Given the description of an element on the screen output the (x, y) to click on. 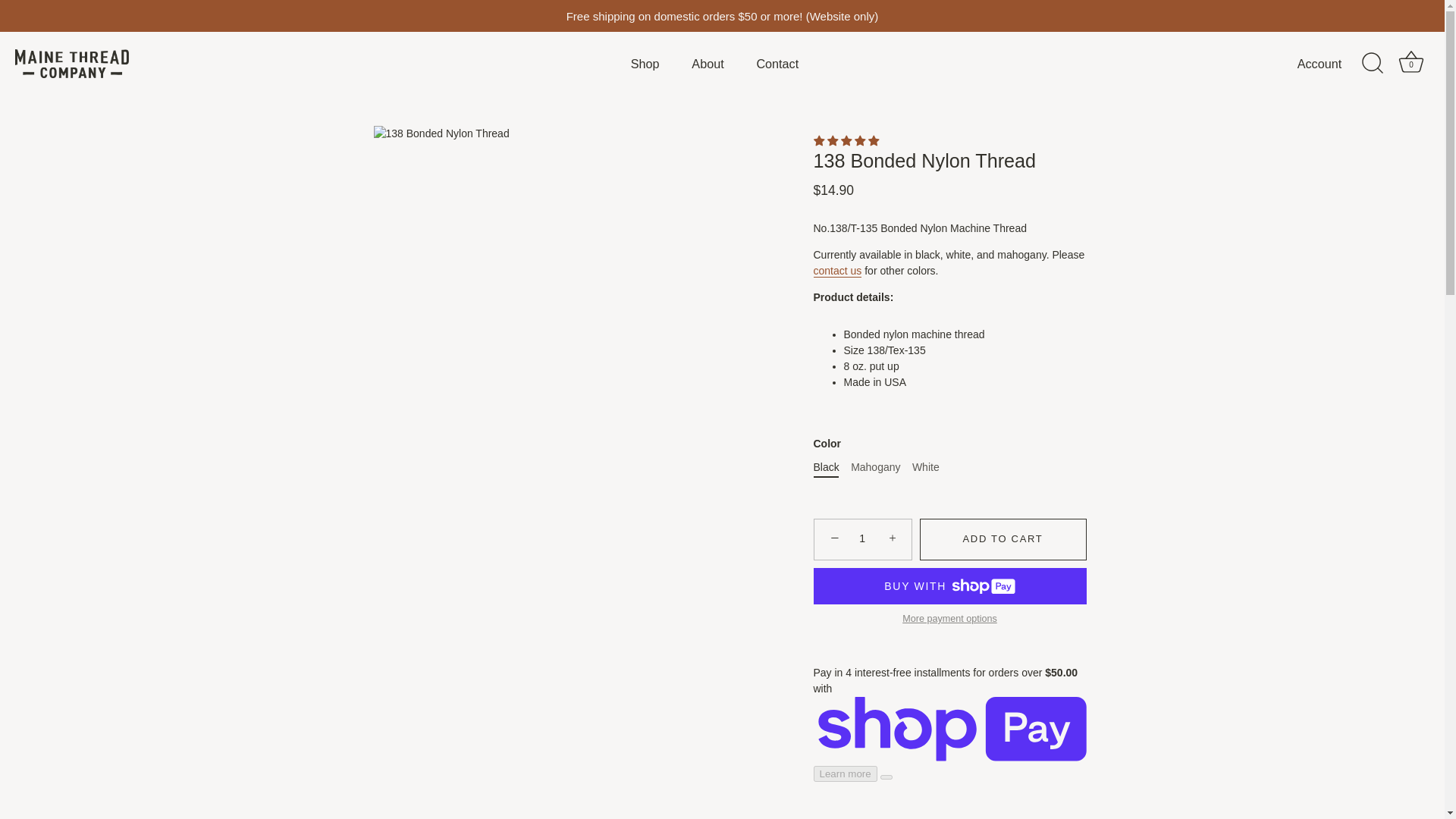
Shop (644, 62)
Contact (777, 62)
About (707, 62)
Account (1332, 64)
1 (862, 539)
Basket (1411, 63)
